Given the description of an element on the screen output the (x, y) to click on. 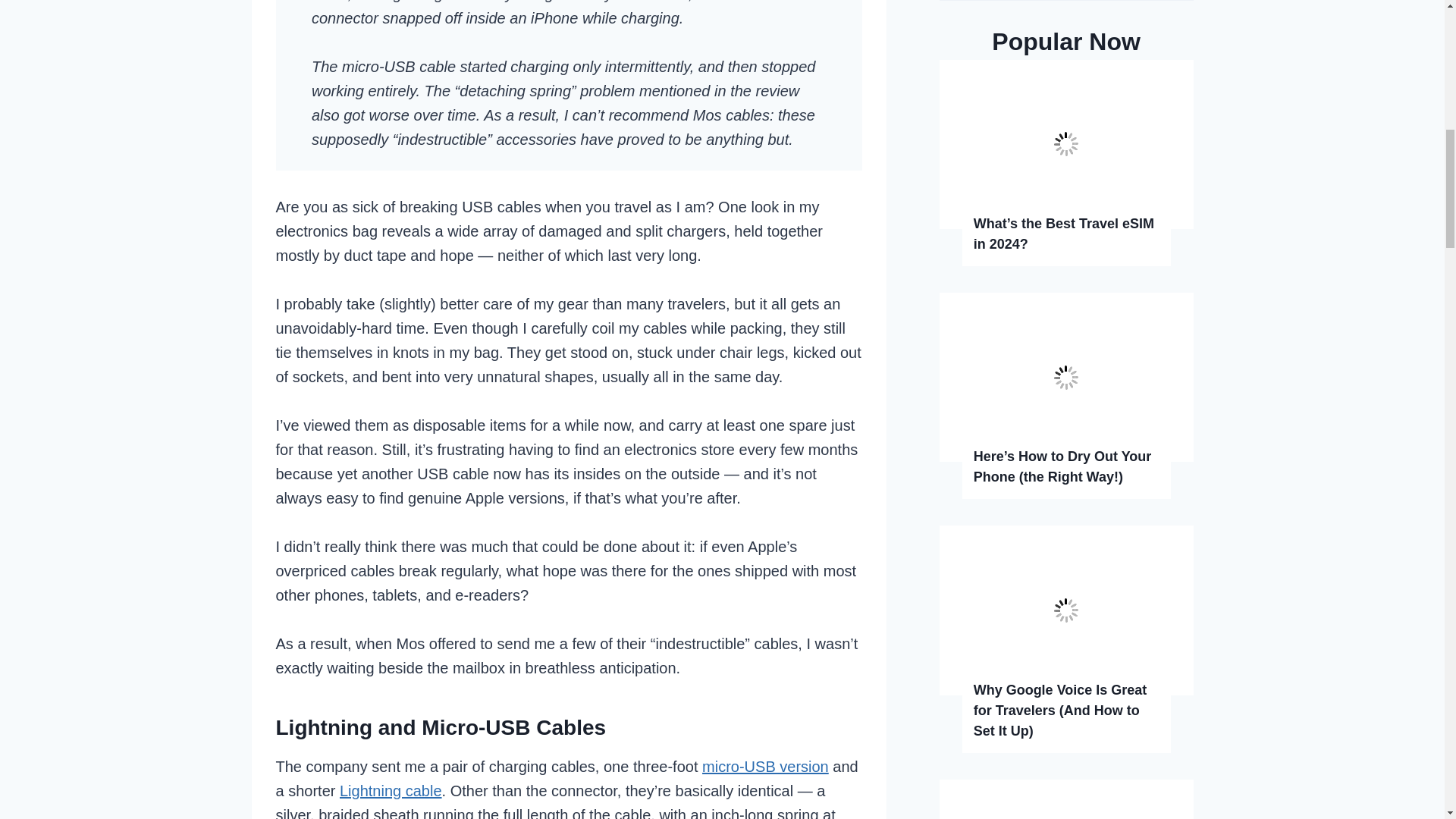
Lightning cable (390, 790)
micro-USB version (764, 766)
